Given the description of an element on the screen output the (x, y) to click on. 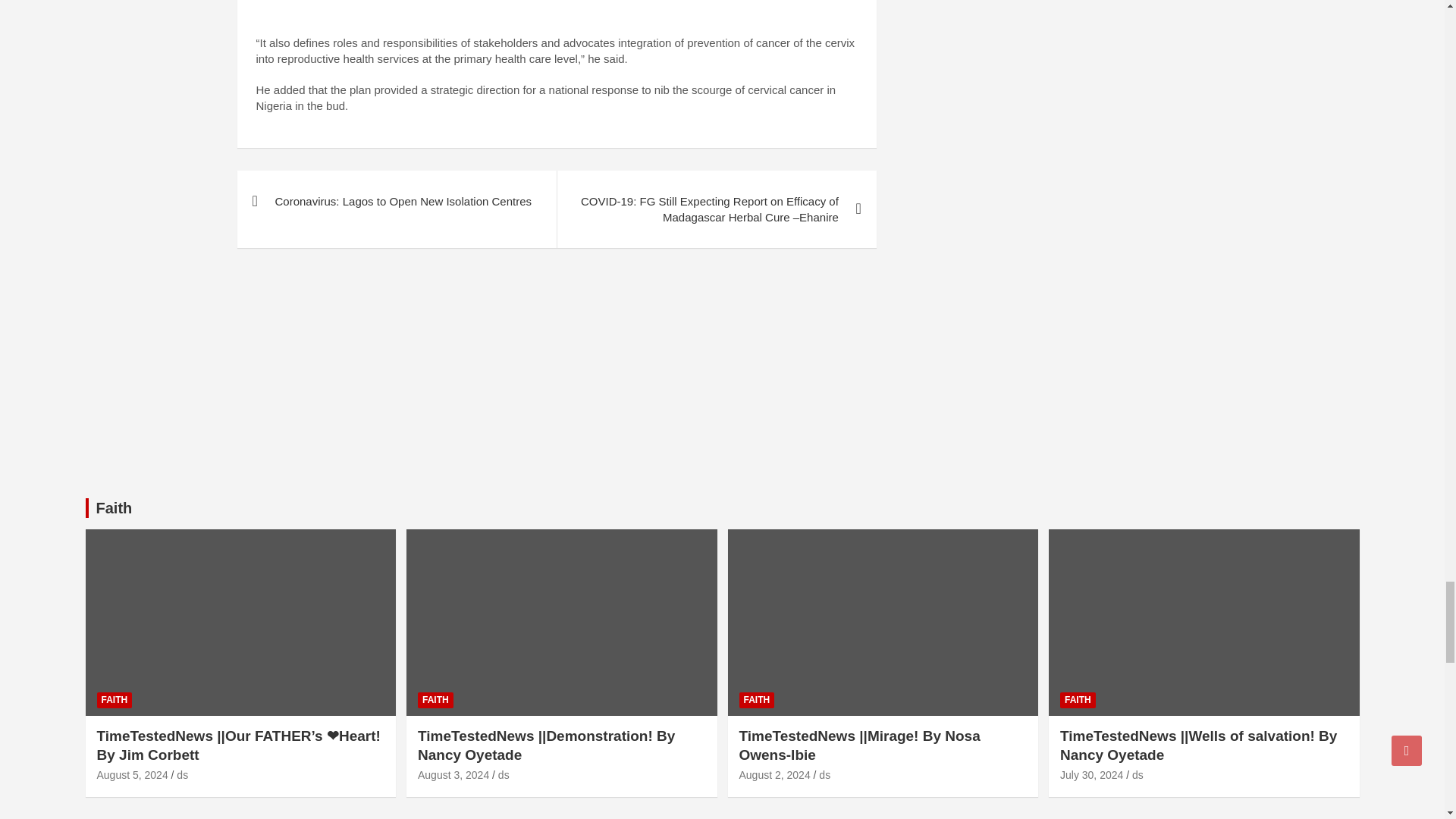
Coronavirus: Lagos to Open New Isolation Centres (395, 200)
